Given the description of an element on the screen output the (x, y) to click on. 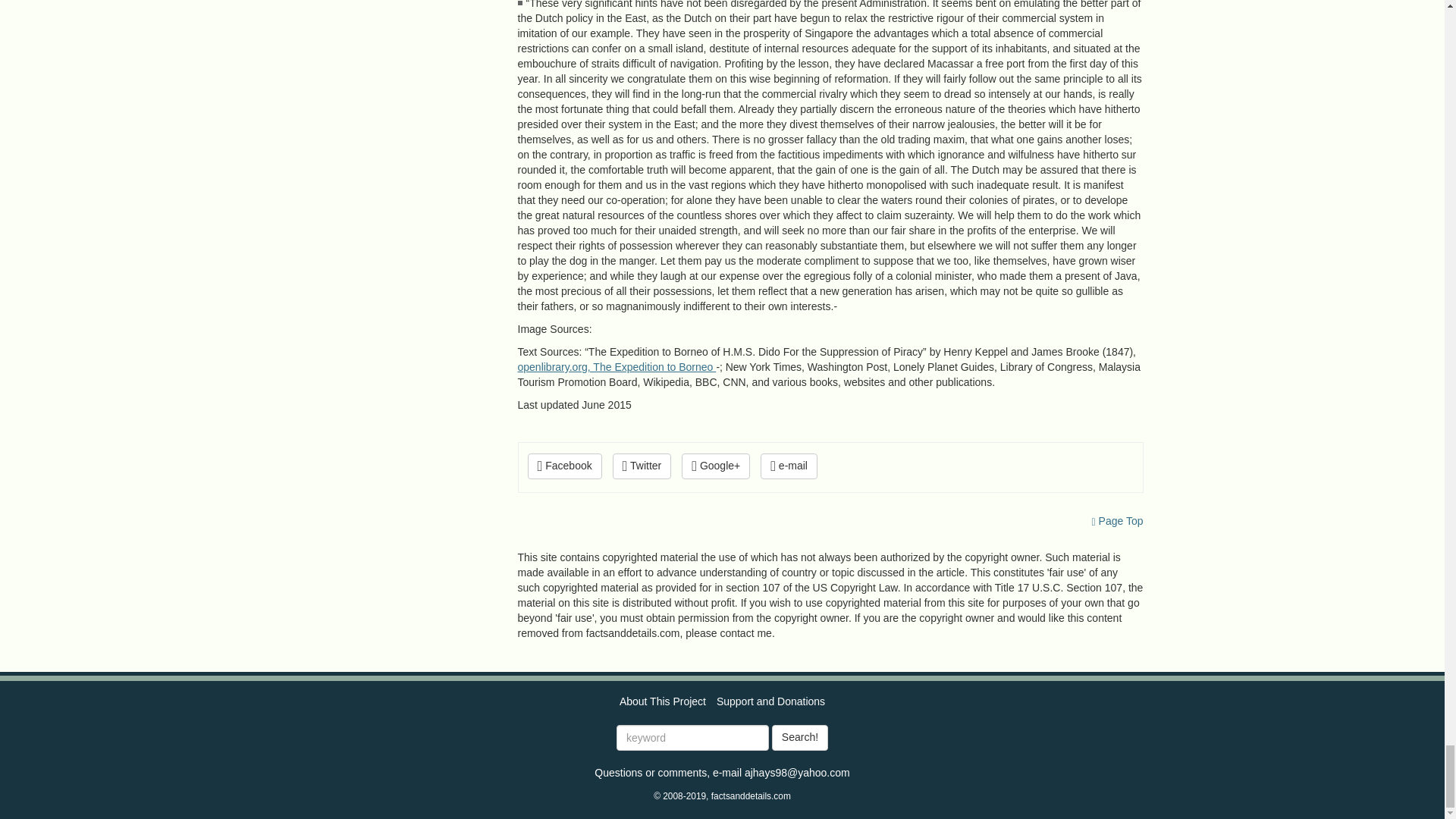
 Facebook (564, 466)
e-mail a link to this page (788, 466)
openlibrary.org, The Expedition to Borneo (616, 367)
 Twitter (641, 466)
Search! (799, 737)
 e-mail (788, 466)
About This Project (663, 701)
Support and Donations (770, 701)
Search! (799, 737)
 Page Top (1117, 521)
